Given the description of an element on the screen output the (x, y) to click on. 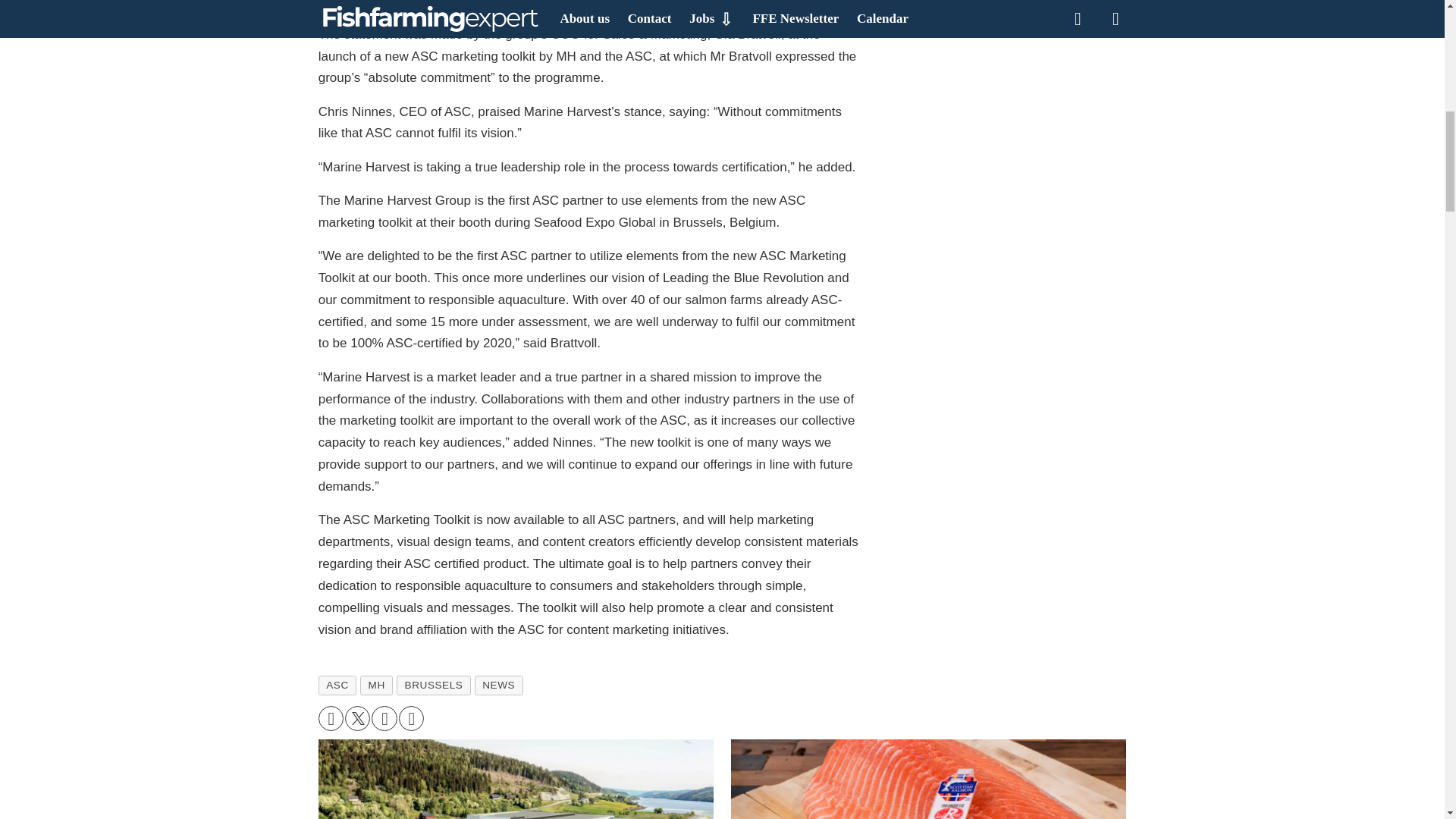
BRUSSELS (433, 684)
Published tuesday 26. April 2016 - 10:07 (465, 2)
Last updated saturday 24. February 2018 - 12:10 (741, 2)
NEWS (498, 684)
ASC (337, 684)
MH (376, 684)
